Given the description of an element on the screen output the (x, y) to click on. 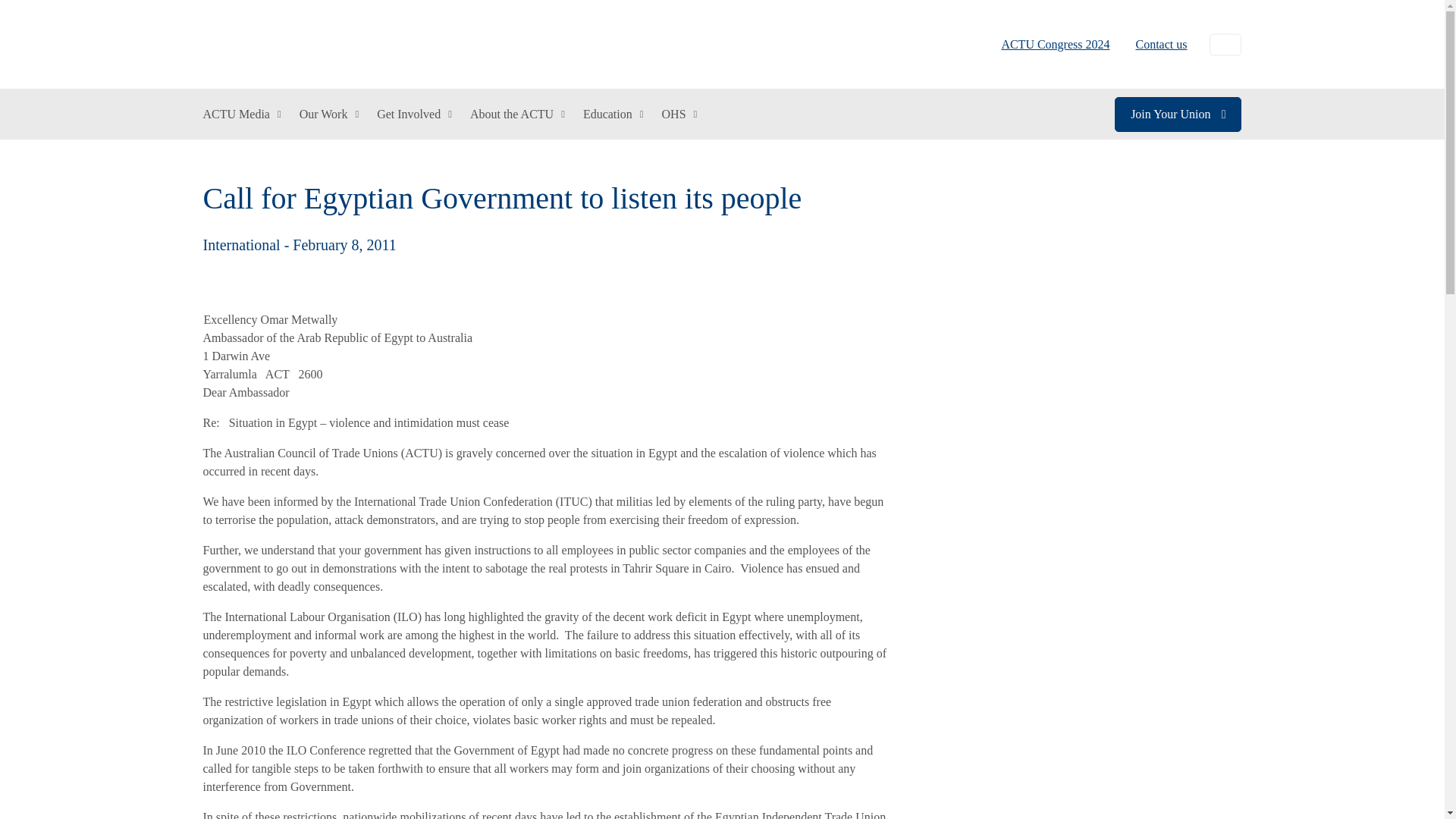
Contact us (1155, 43)
Contact us (1155, 43)
Join Your Union (1178, 114)
ACTU Media (242, 114)
ACTU Congress 2024 (1055, 43)
ACTU Congress 2024 (1055, 43)
